Given the description of an element on the screen output the (x, y) to click on. 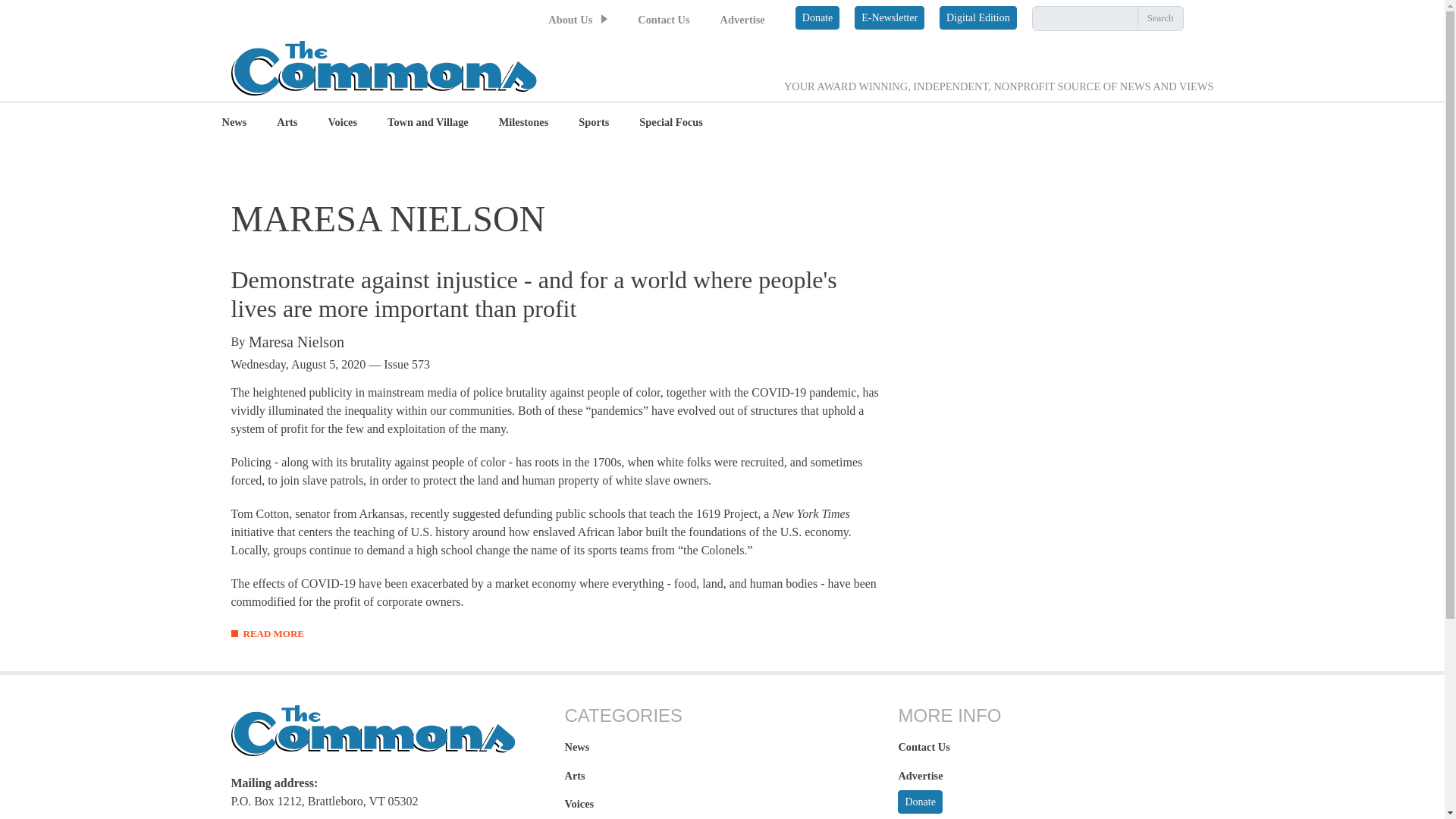
Advertise (742, 20)
Donate (817, 17)
Town and Village (427, 122)
Voices (341, 122)
Milestones (523, 122)
E-Newsletter (889, 17)
Contact Us (662, 20)
Digital Edition (977, 17)
Sports (593, 122)
About Us (570, 20)
Search (1160, 18)
Special Focus (671, 122)
